Given the description of an element on the screen output the (x, y) to click on. 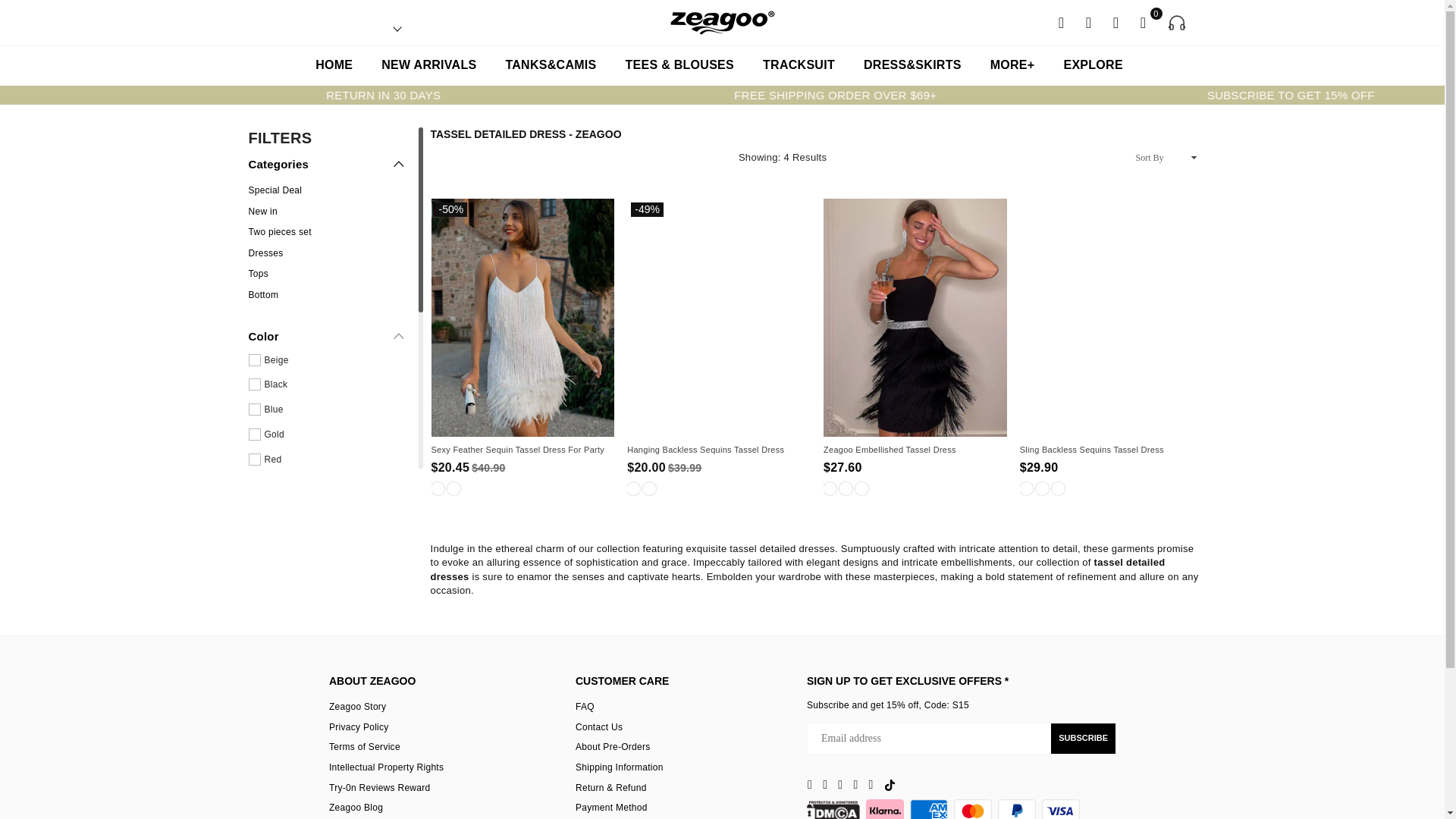
White (437, 488)
TRACKSUIT (798, 64)
Zeagoo Embellished Tassel Dress (911, 449)
Black (829, 488)
0 (1143, 20)
American Express (928, 809)
Black (649, 488)
Sexy Feather Sequin Tassel Dress for Party (518, 449)
Mastercard (972, 809)
Visa (1061, 809)
Red (633, 488)
PayPal (1016, 809)
Settings (1088, 20)
Wishlist (1115, 20)
EXPLORE (1092, 64)
